Given the description of an element on the screen output the (x, y) to click on. 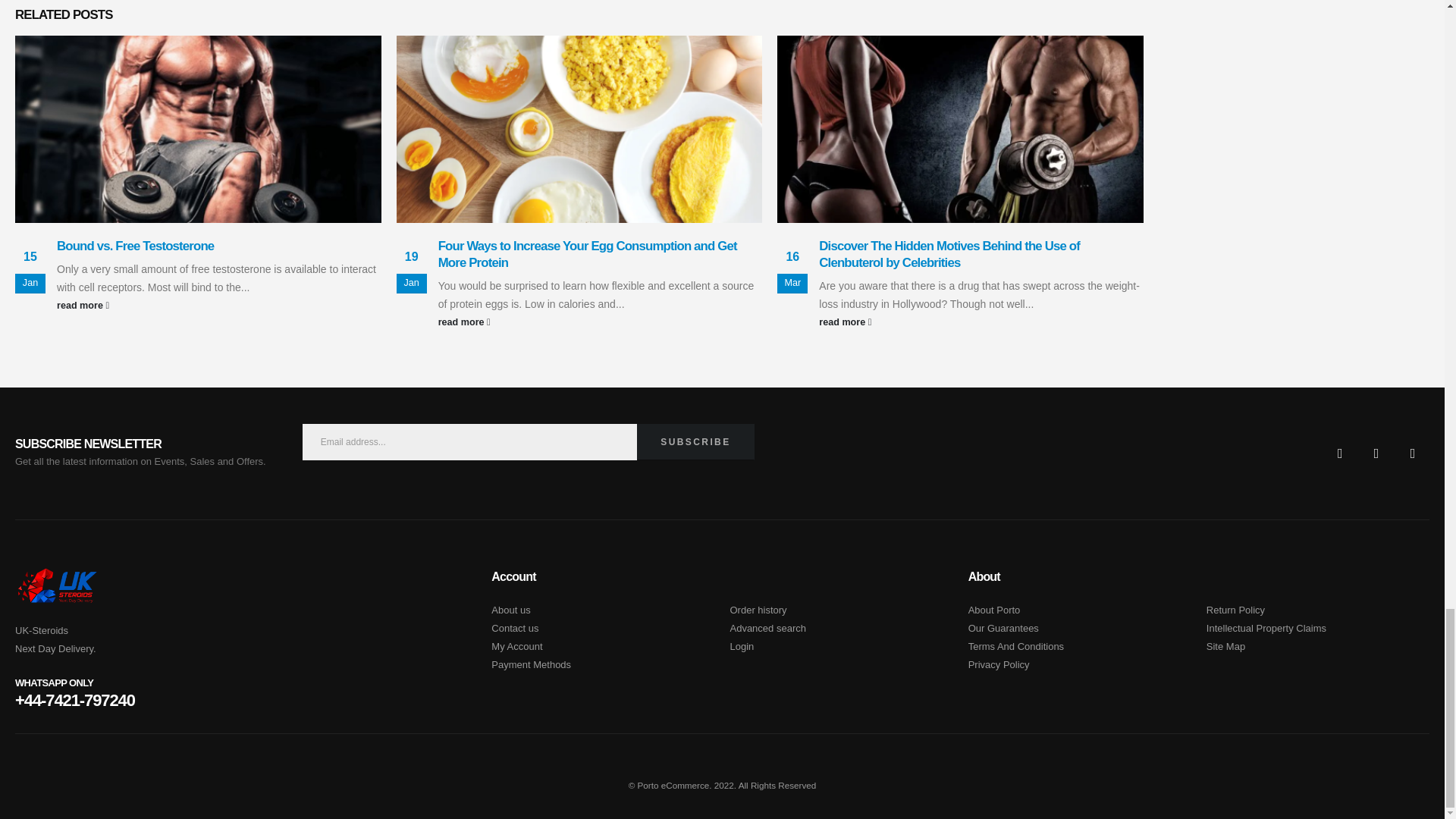
Twitter (1376, 453)
Facebook (1339, 453)
Instagram (1412, 453)
Subscribe (695, 442)
Bound vs. Free Testosterone (135, 246)
read more (980, 321)
About us (510, 609)
read more (600, 321)
read more (218, 305)
